Given the description of an element on the screen output the (x, y) to click on. 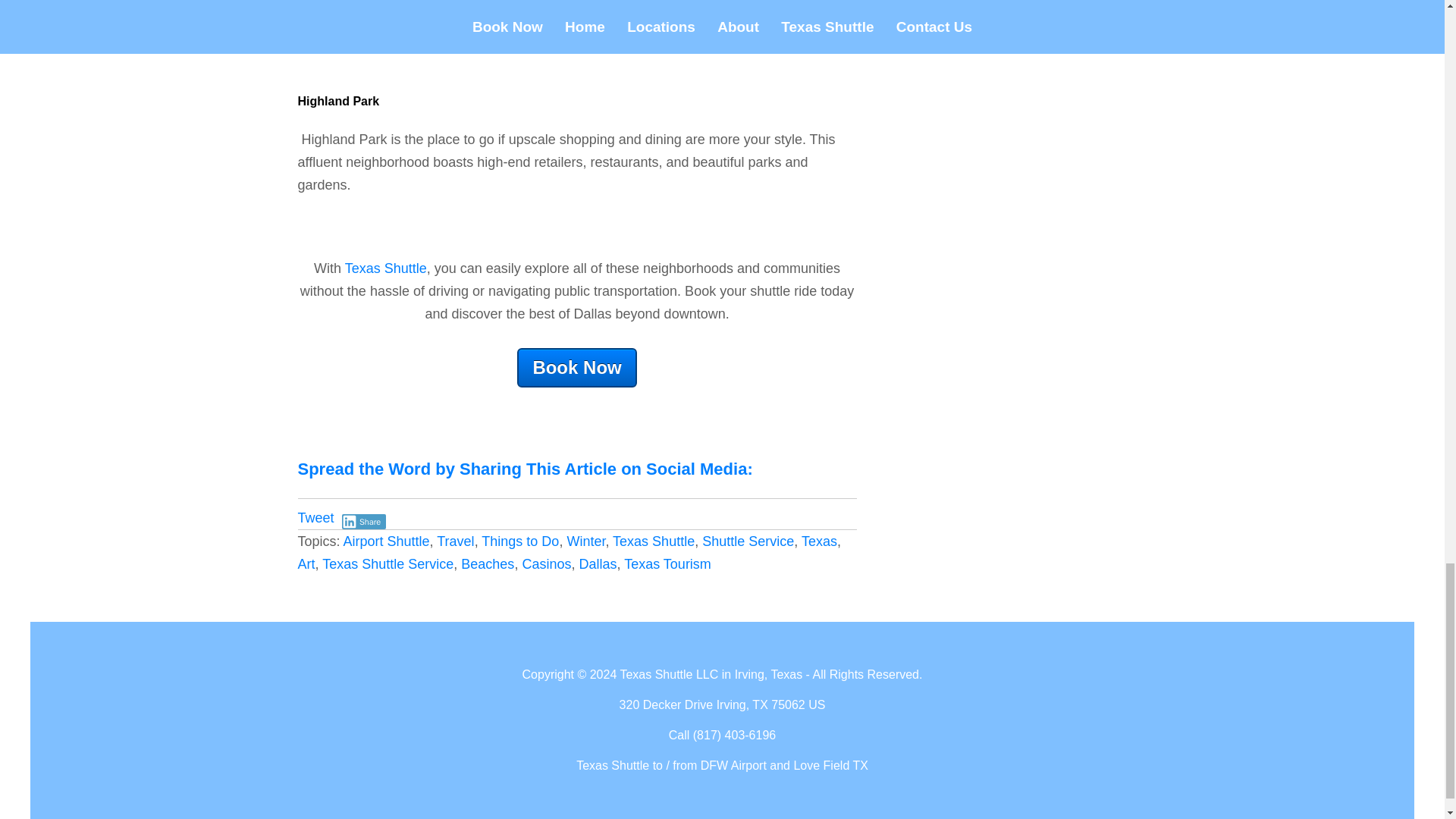
Topic Name (520, 540)
Book Now (576, 366)
Tweet (315, 517)
Casinos (545, 563)
Topic Name (487, 563)
Topic Name (653, 540)
Texas Shuttle Service (386, 563)
Shuttle Service (747, 540)
Winter (585, 540)
Travel (455, 540)
Dallas (596, 563)
Topic Name (386, 563)
Airport Shuttle (386, 540)
Texas Shuttle (653, 540)
Topic Name (585, 540)
